Given the description of an element on the screen output the (x, y) to click on. 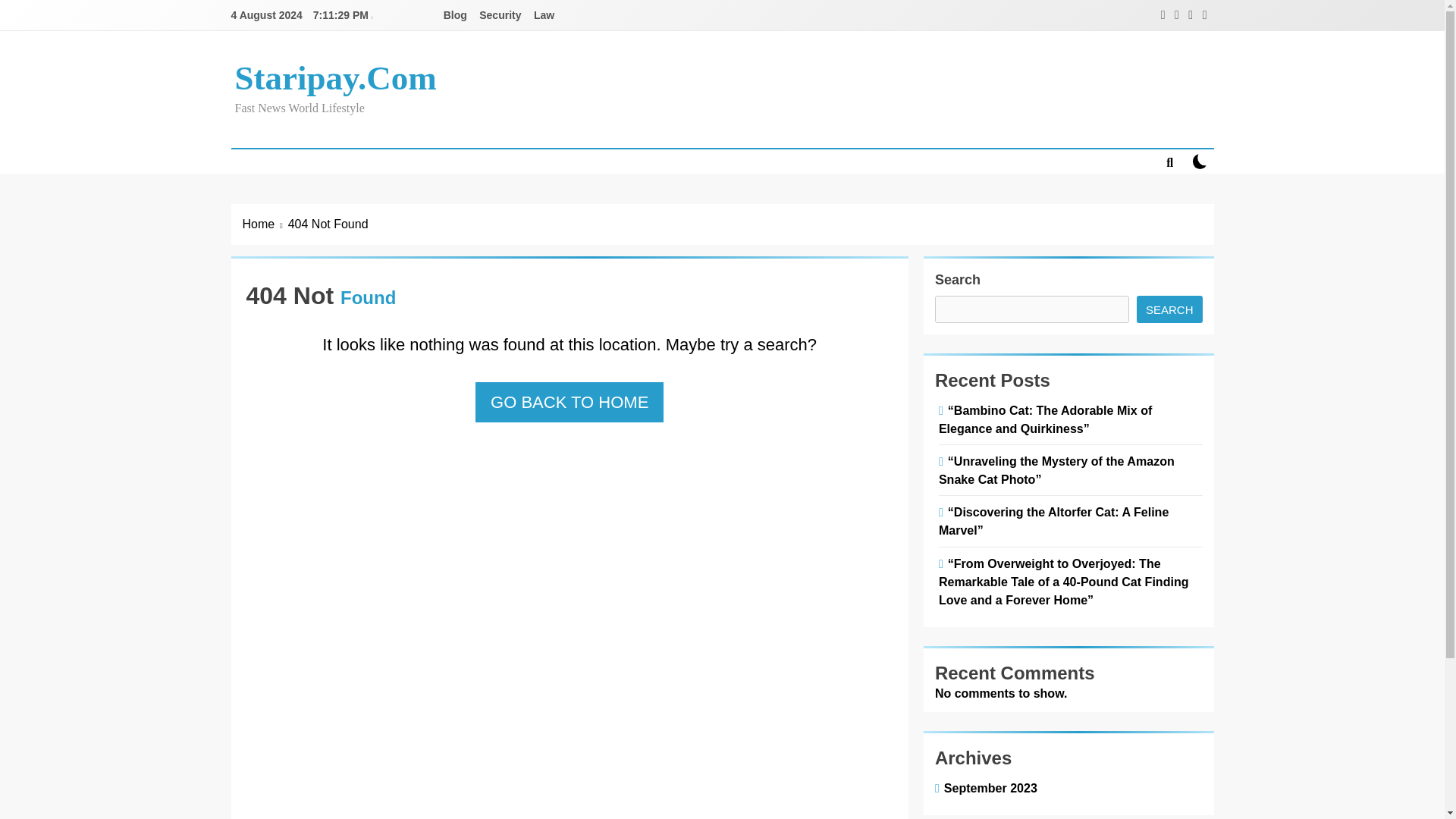
Staripay.Com (335, 77)
Security (499, 15)
Home (265, 224)
on (1199, 160)
September 2023 (987, 787)
Law (544, 15)
SEARCH (1169, 308)
GO BACK TO HOME (569, 402)
Blog (455, 15)
